Given the description of an element on the screen output the (x, y) to click on. 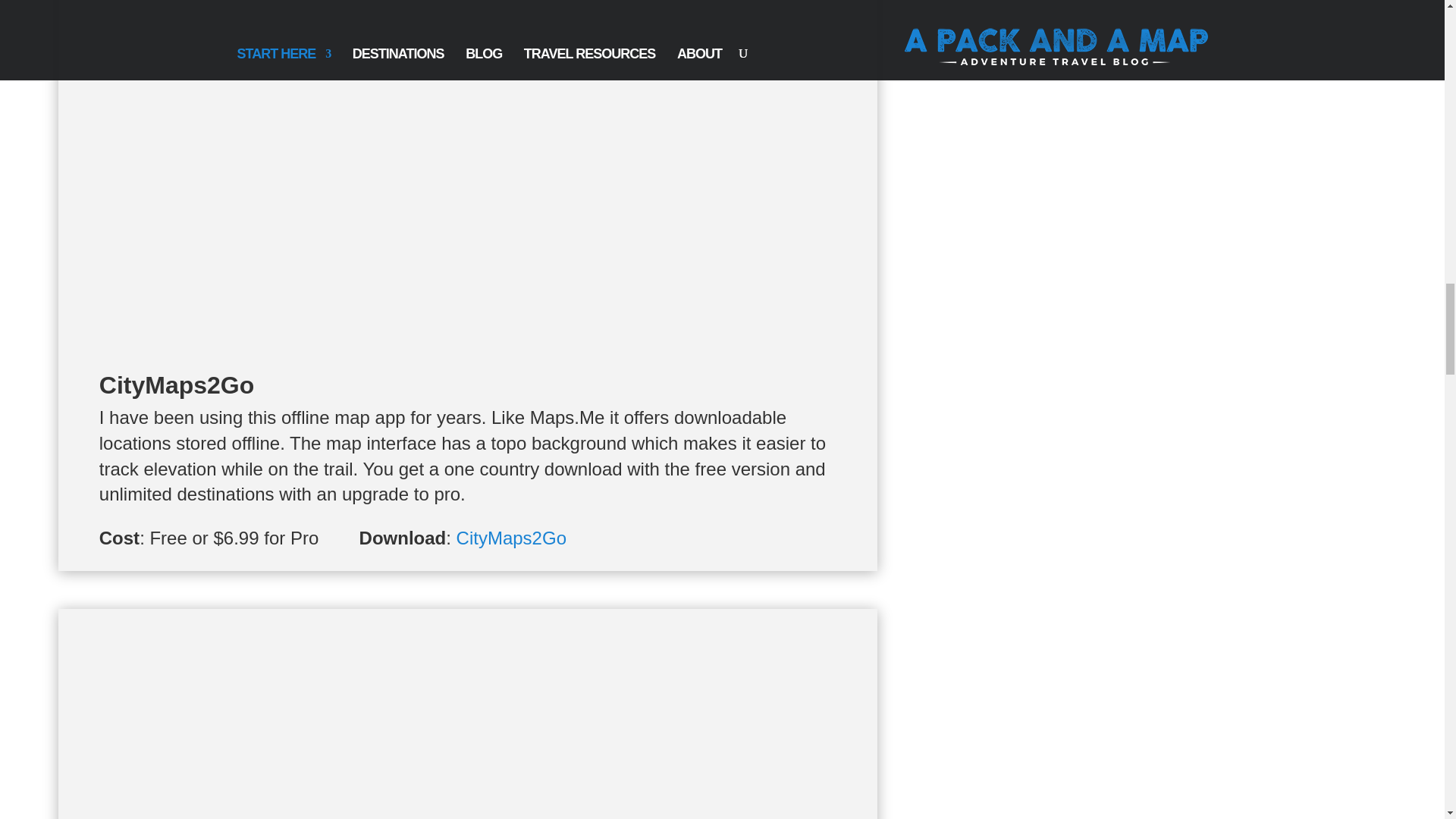
CityMaps2Go (511, 537)
